Given the description of an element on the screen output the (x, y) to click on. 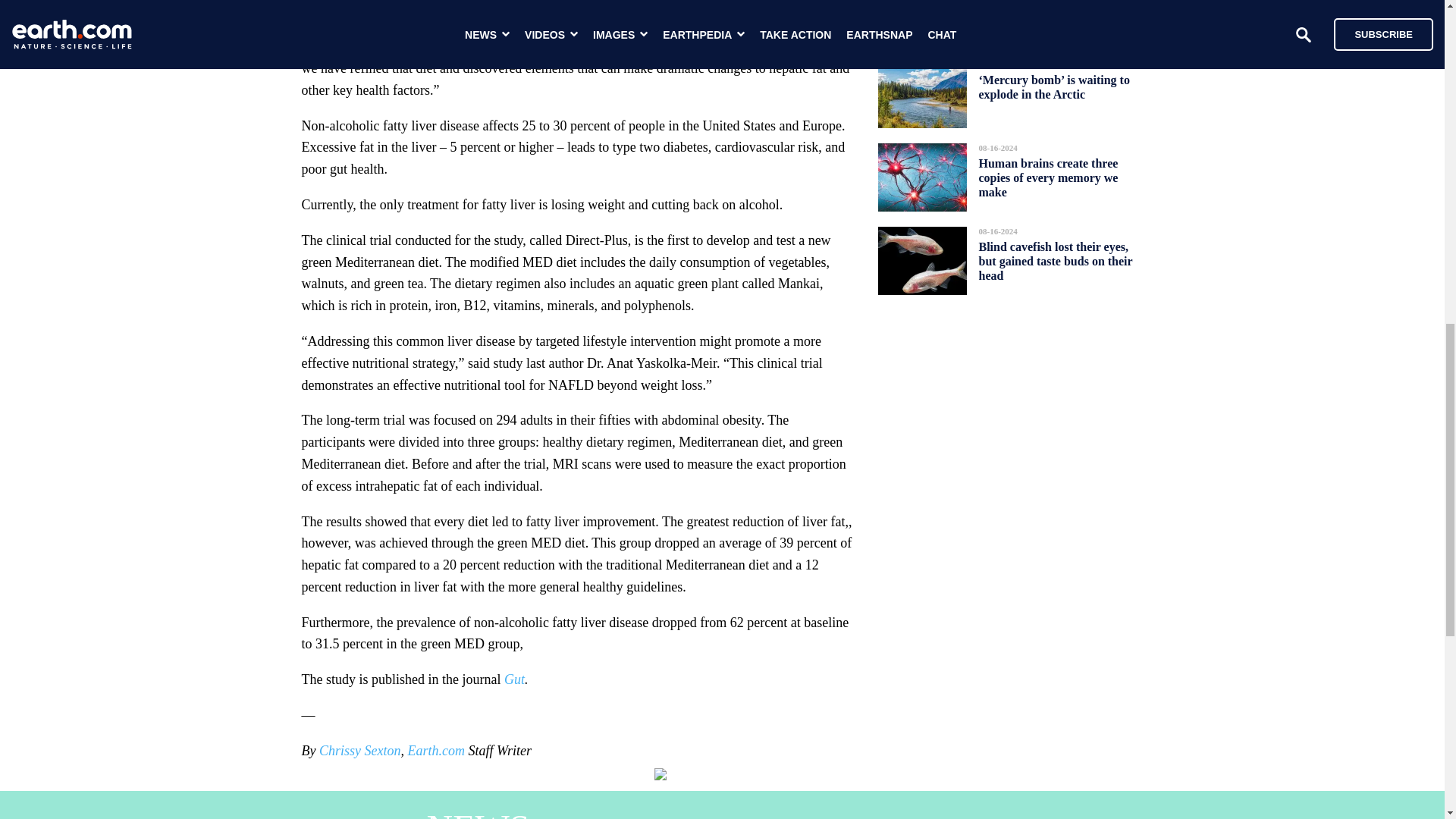
Chrissy Sexton (359, 750)
Arts and crafts can greatly improve public well-being (1047, 12)
Earth.com (435, 750)
Gut (513, 679)
Human brains create three copies of every memory we make (1048, 177)
